Given the description of an element on the screen output the (x, y) to click on. 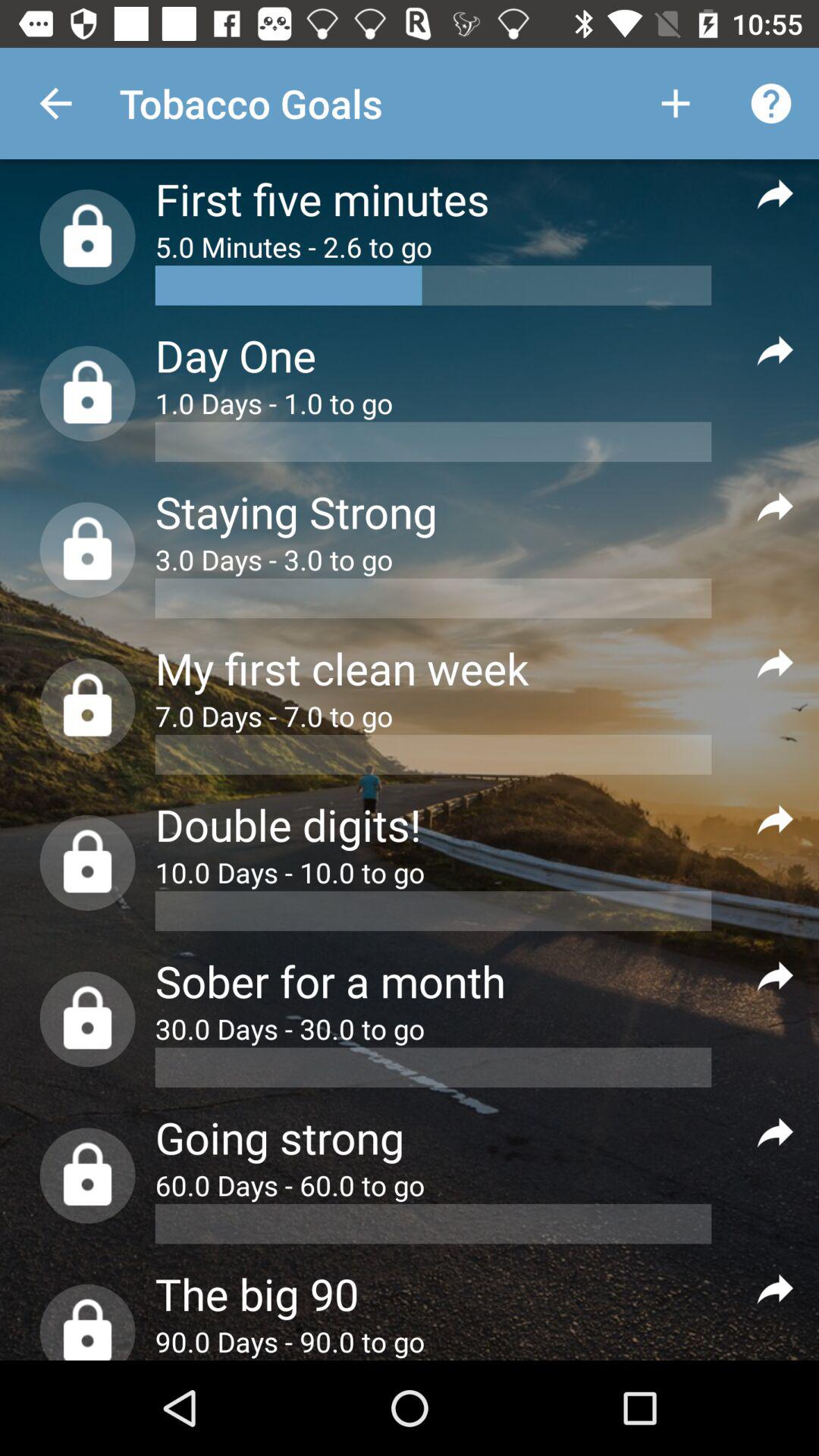
choose the item next to the tobacco goals item (55, 103)
